Given the description of an element on the screen output the (x, y) to click on. 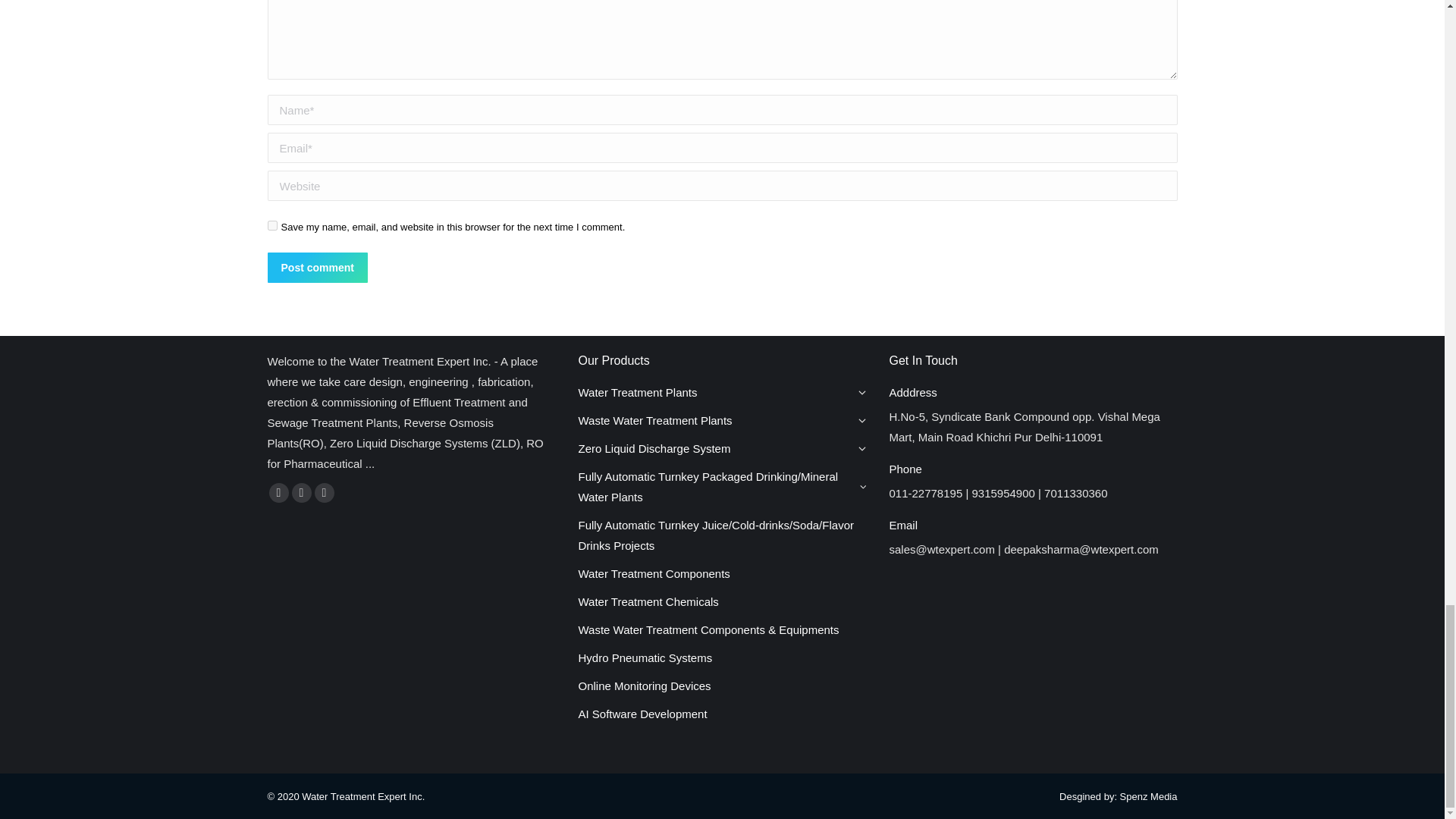
Linkedin page opens in new window (323, 492)
yes (271, 225)
Facebook page opens in new window (277, 492)
YouTube page opens in new window (301, 492)
